Given the description of an element on the screen output the (x, y) to click on. 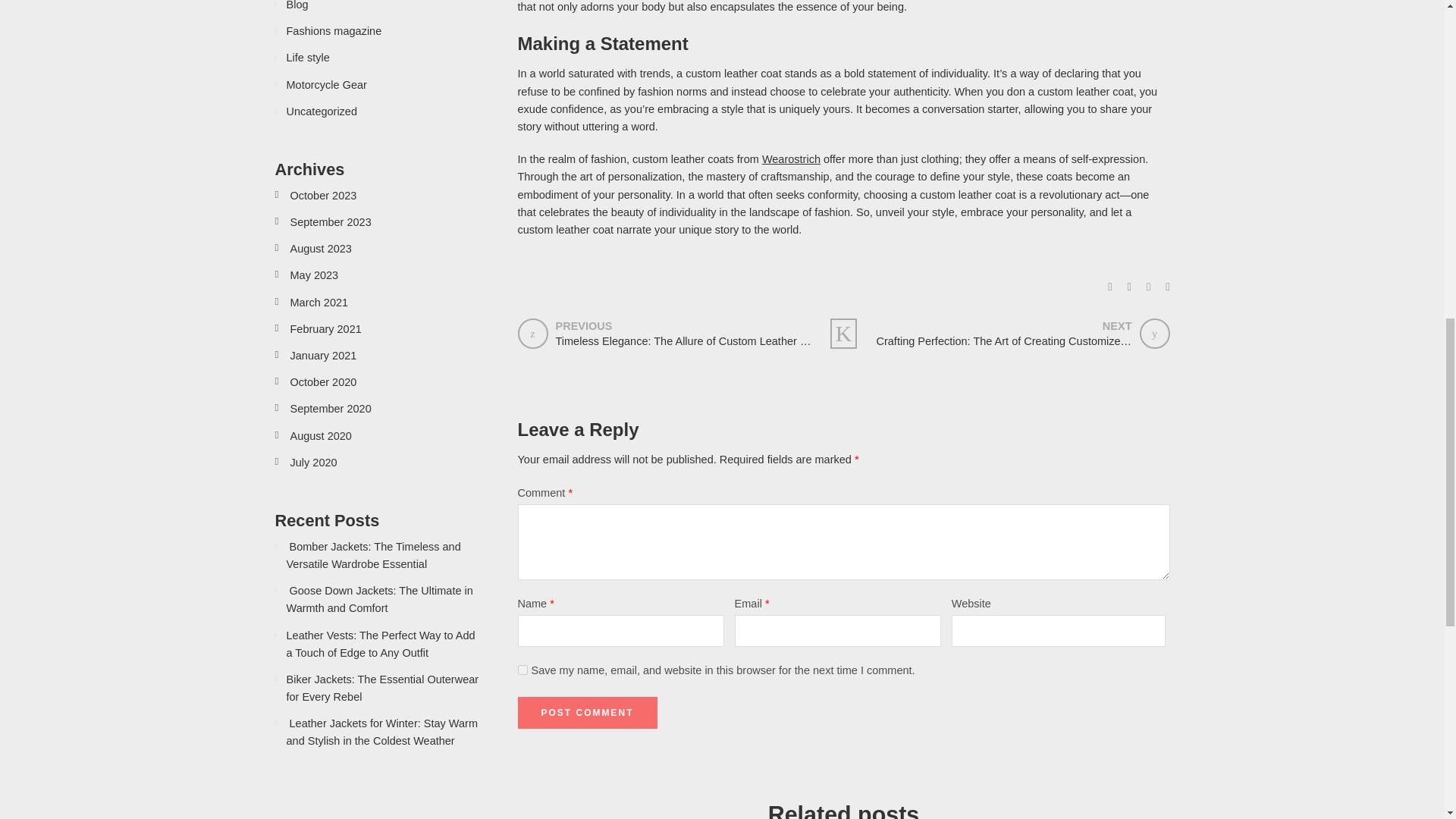
Email to your friends (1167, 286)
Back to Blog (843, 333)
Share on Twitter (1110, 286)
yes (521, 669)
Share on Facebook (1128, 286)
Pin on Pinterest (1148, 286)
Post Comment (586, 712)
